Given the description of an element on the screen output the (x, y) to click on. 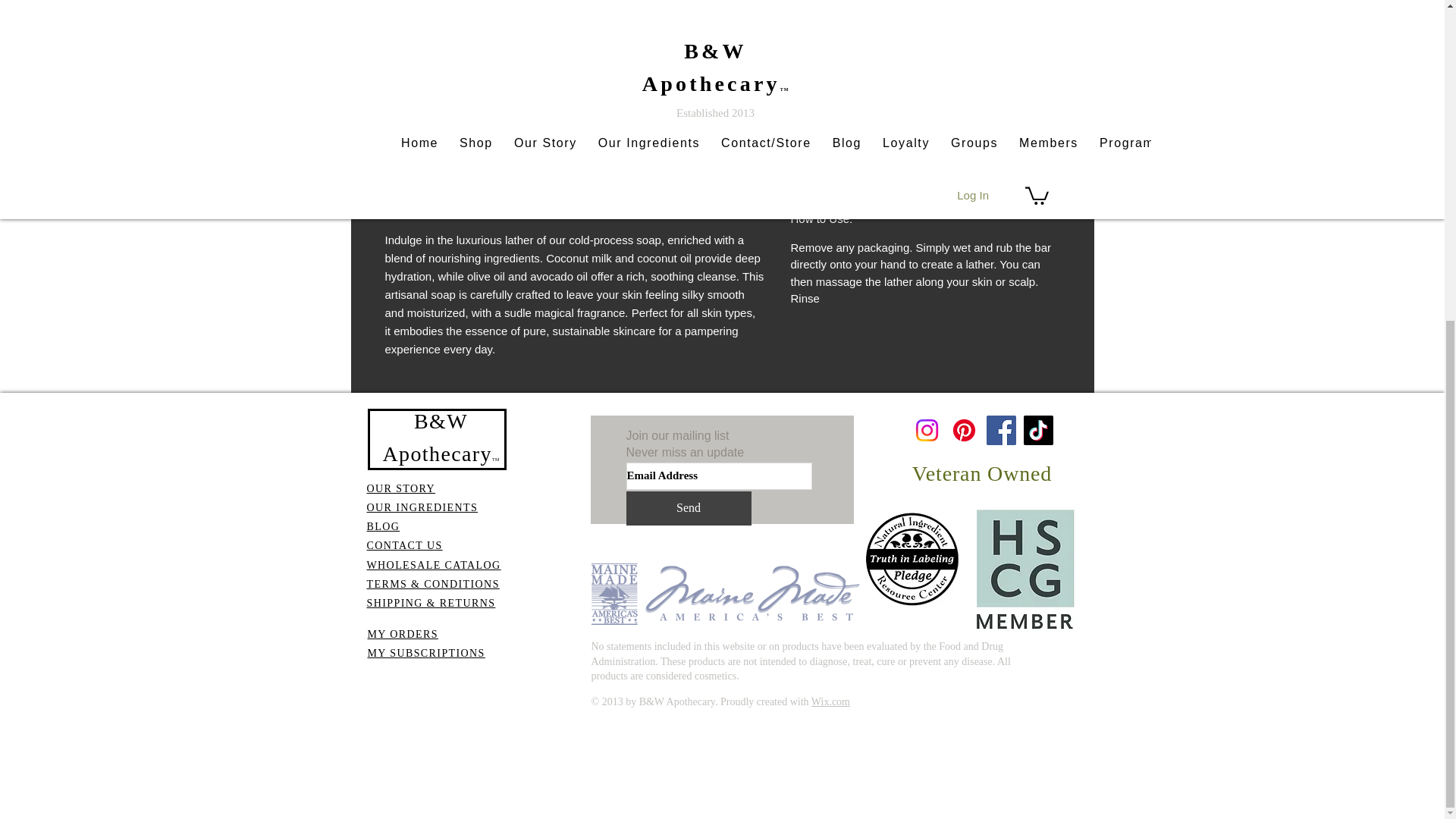
MY SUBSCRIPTIONS (425, 653)
WHOLESALE CATALOG (433, 564)
Add to Cart (924, 24)
MY ORDERS (402, 633)
Ingredients: (924, 84)
OUR STORY (400, 488)
Send (688, 508)
BLOG (383, 526)
How to Use: (924, 218)
CONTACT US (404, 545)
OUR INGREDIENTS (422, 507)
